Given the description of an element on the screen output the (x, y) to click on. 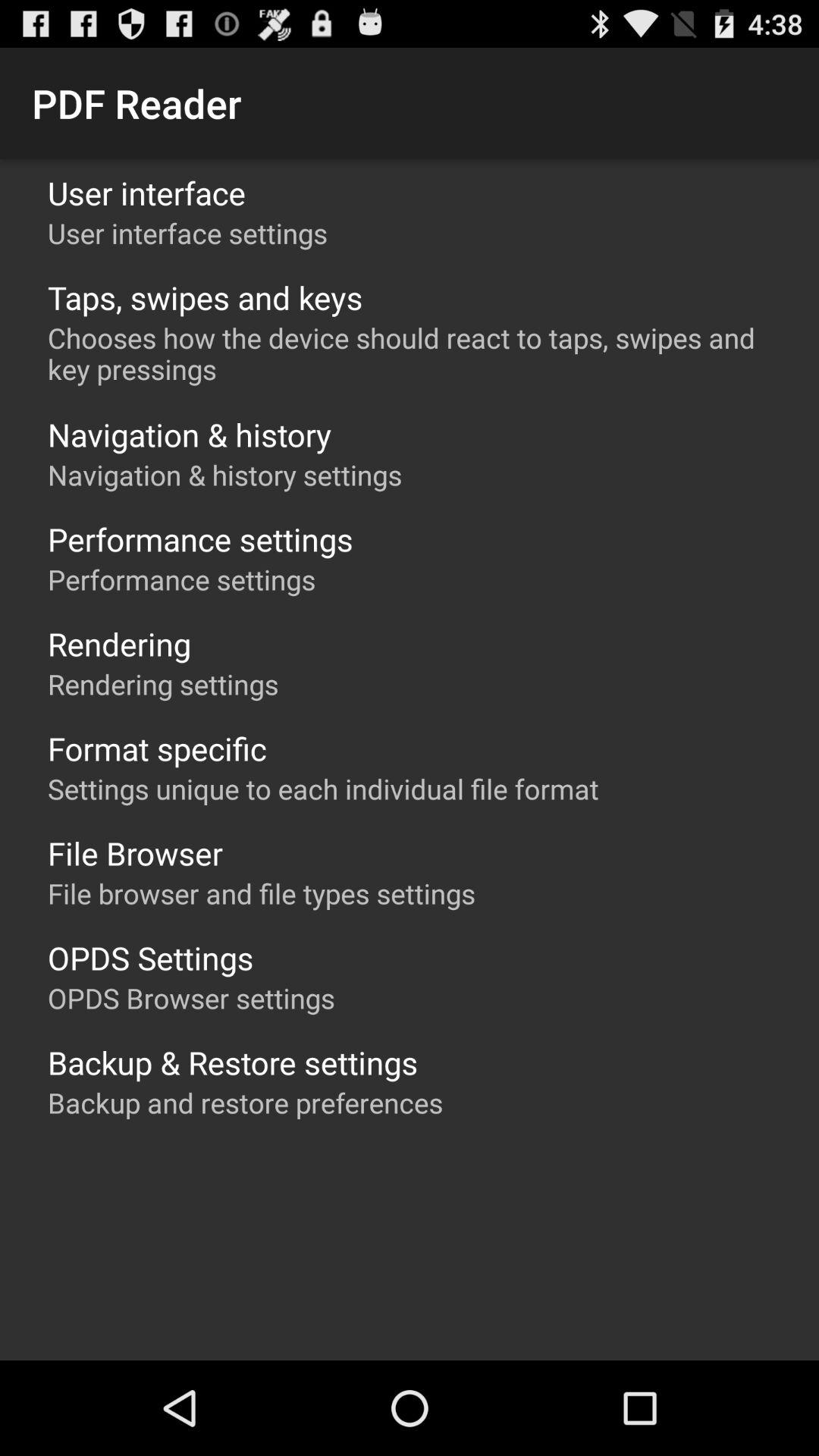
tap format specific (156, 748)
